Given the description of an element on the screen output the (x, y) to click on. 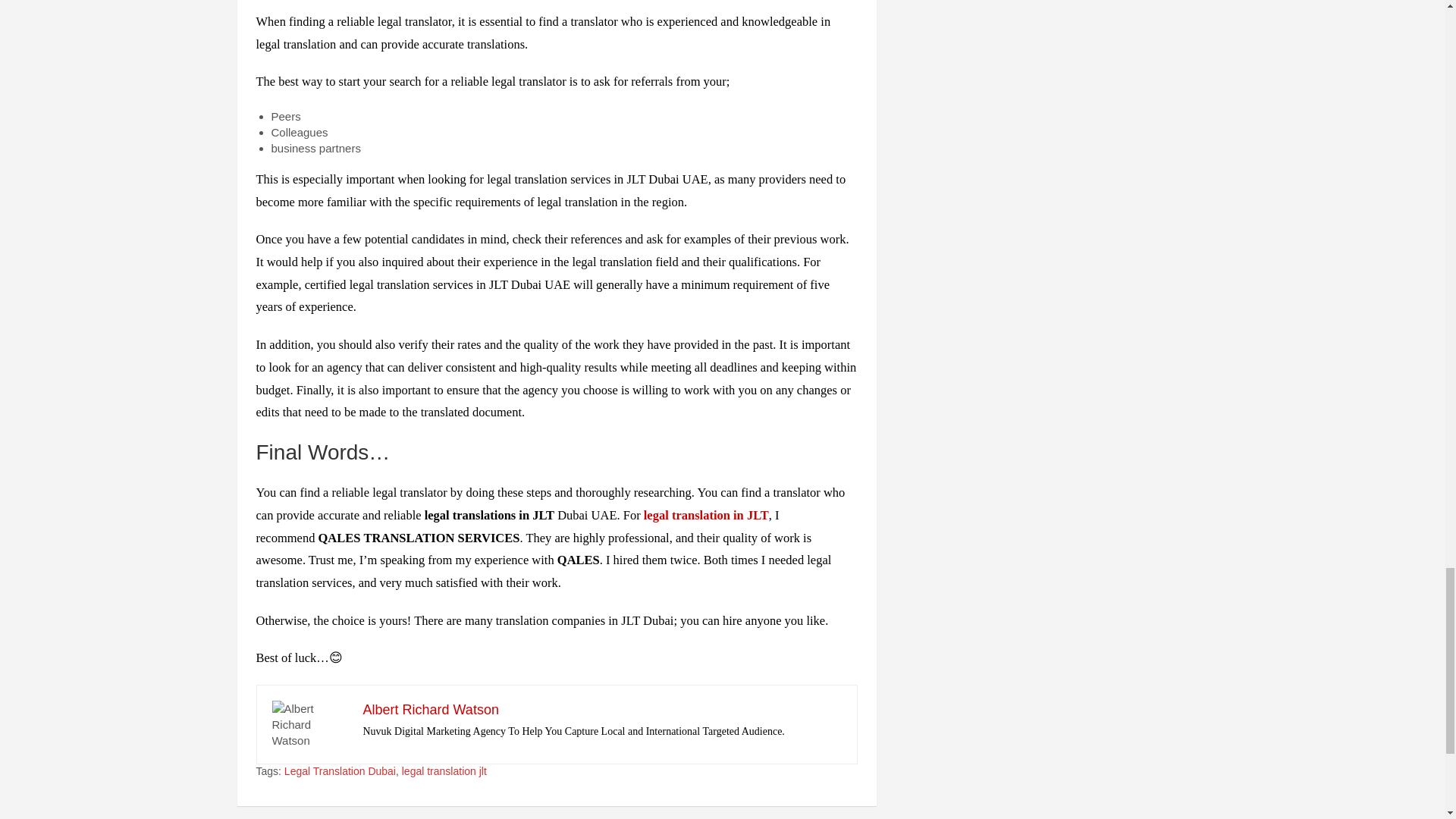
Albert Richard Watson (429, 709)
Legal Translation Dubai (339, 771)
legal translation jlt (443, 771)
legal translation in JLT (705, 514)
